Given the description of an element on the screen output the (x, y) to click on. 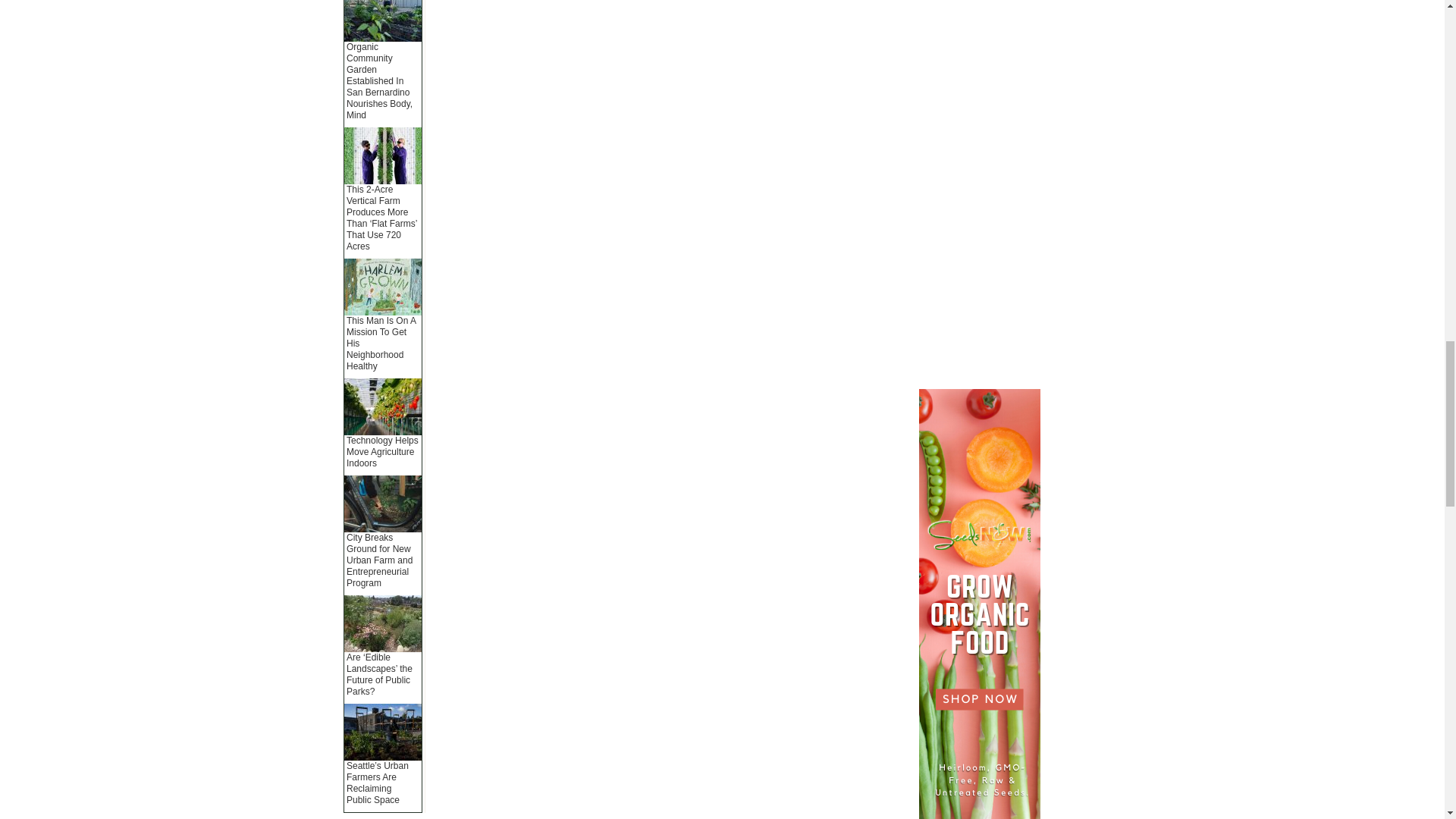
This Man Is On A Mission To Get His Neighborhood Healthy (380, 343)
Technology Helps Move Agriculture Indoors (382, 451)
